Given the description of an element on the screen output the (x, y) to click on. 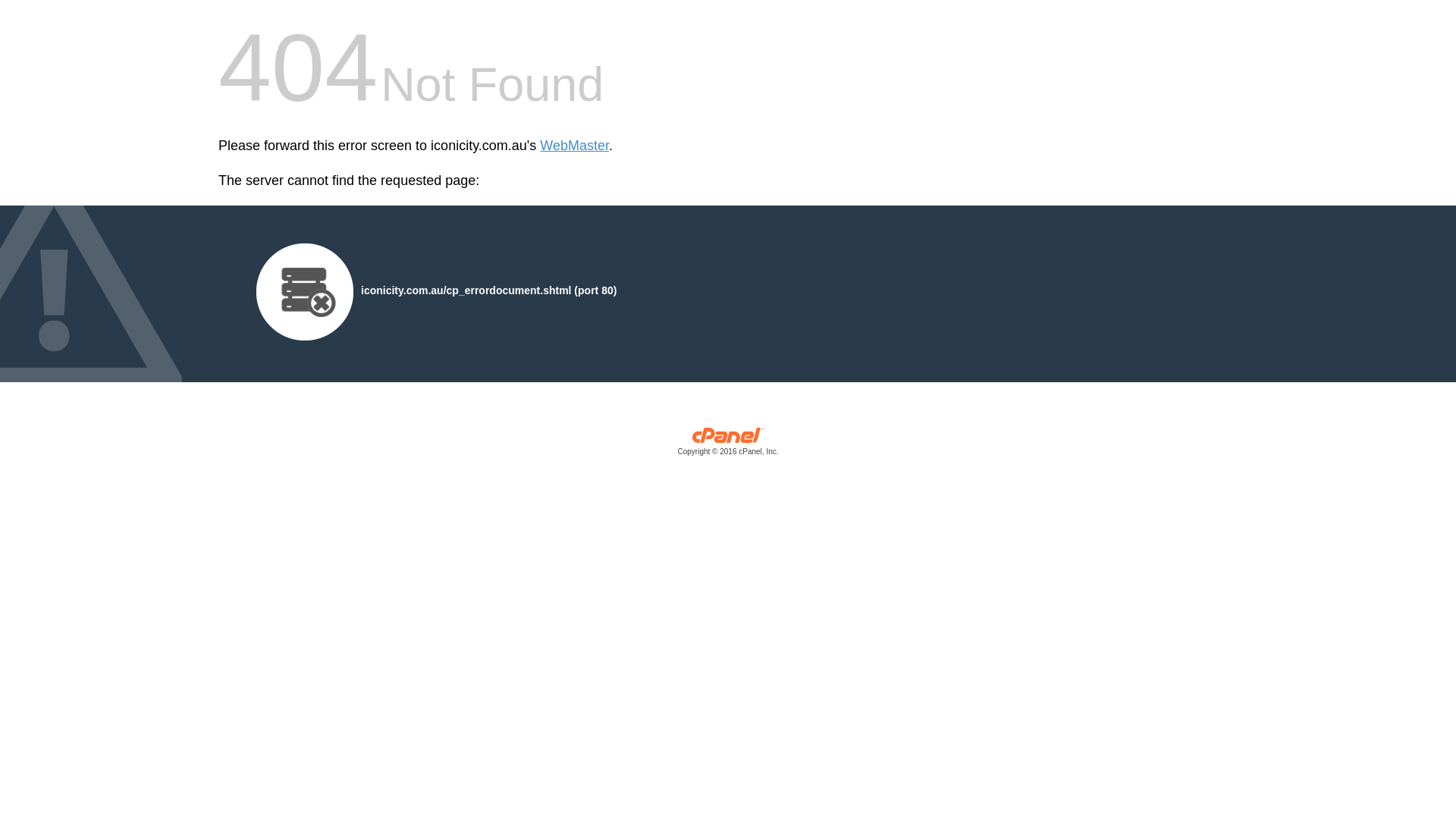
WebMaster Element type: text (573, 145)
